Given the description of an element on the screen output the (x, y) to click on. 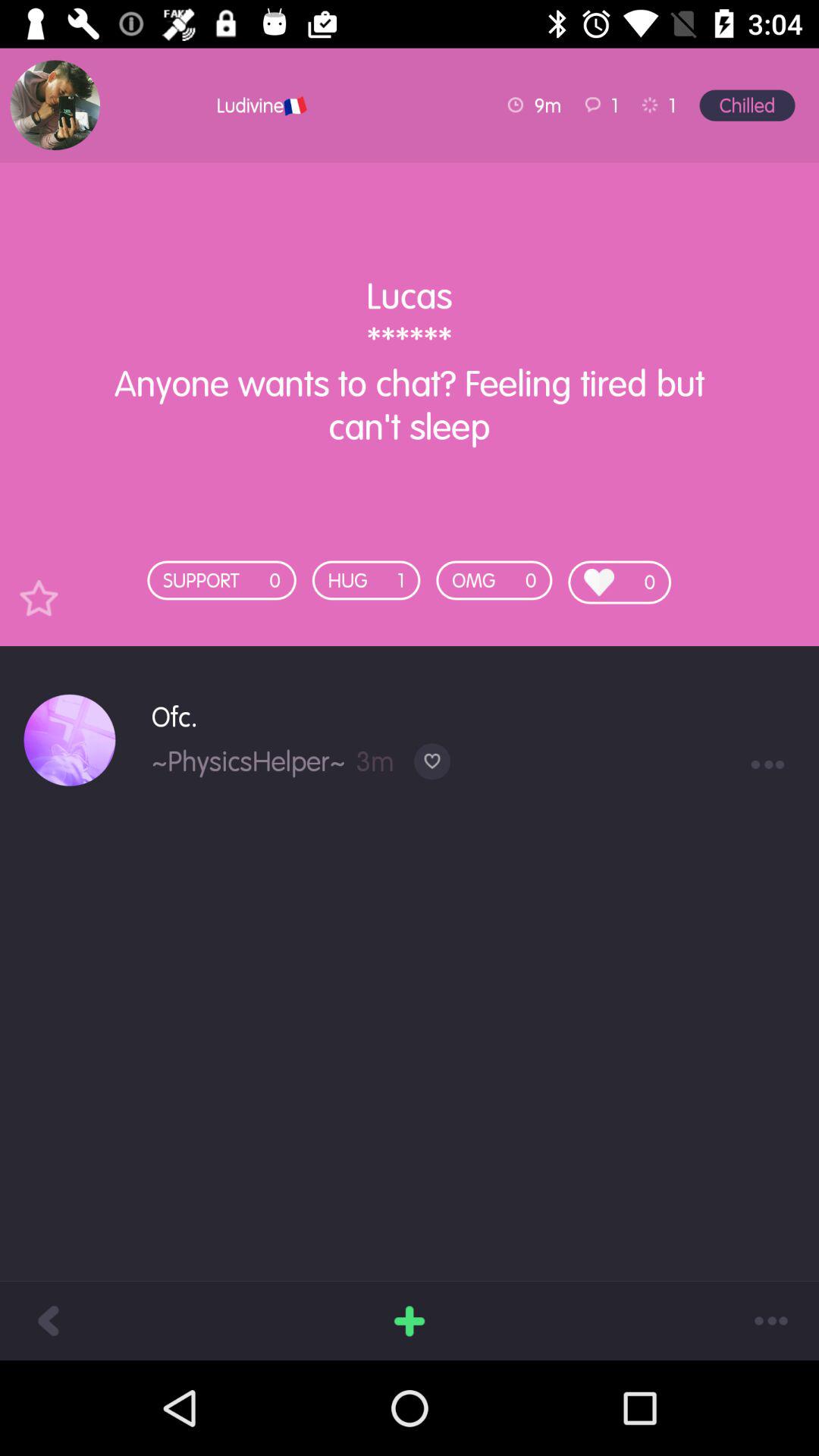
click to favorite (38, 597)
